Given the description of an element on the screen output the (x, y) to click on. 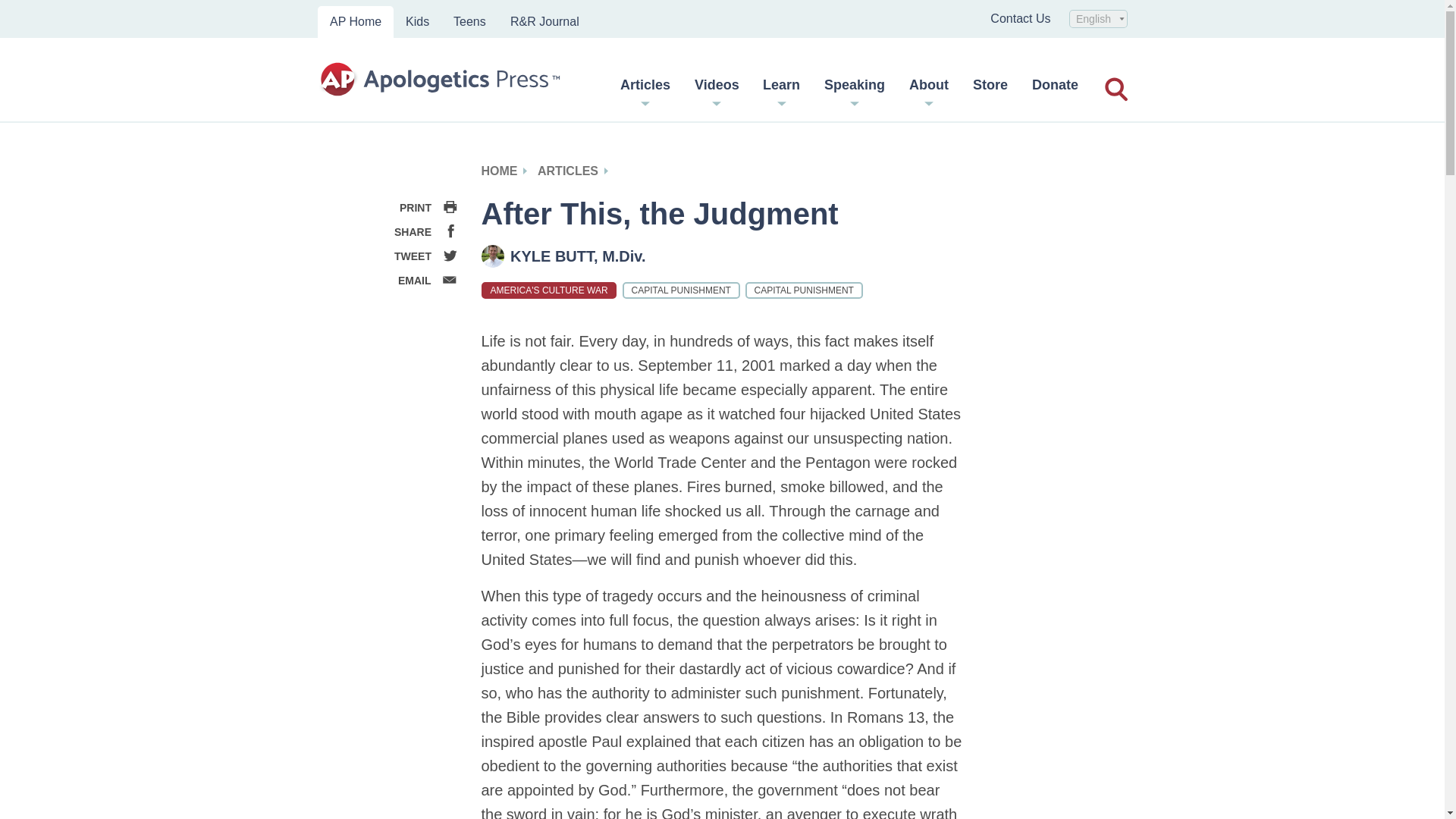
Videos (716, 90)
Articles (645, 90)
Teens (469, 21)
Contact Us (1019, 18)
Kids (417, 21)
Apologetics Press (439, 79)
AP Home (355, 21)
